Given the description of an element on the screen output the (x, y) to click on. 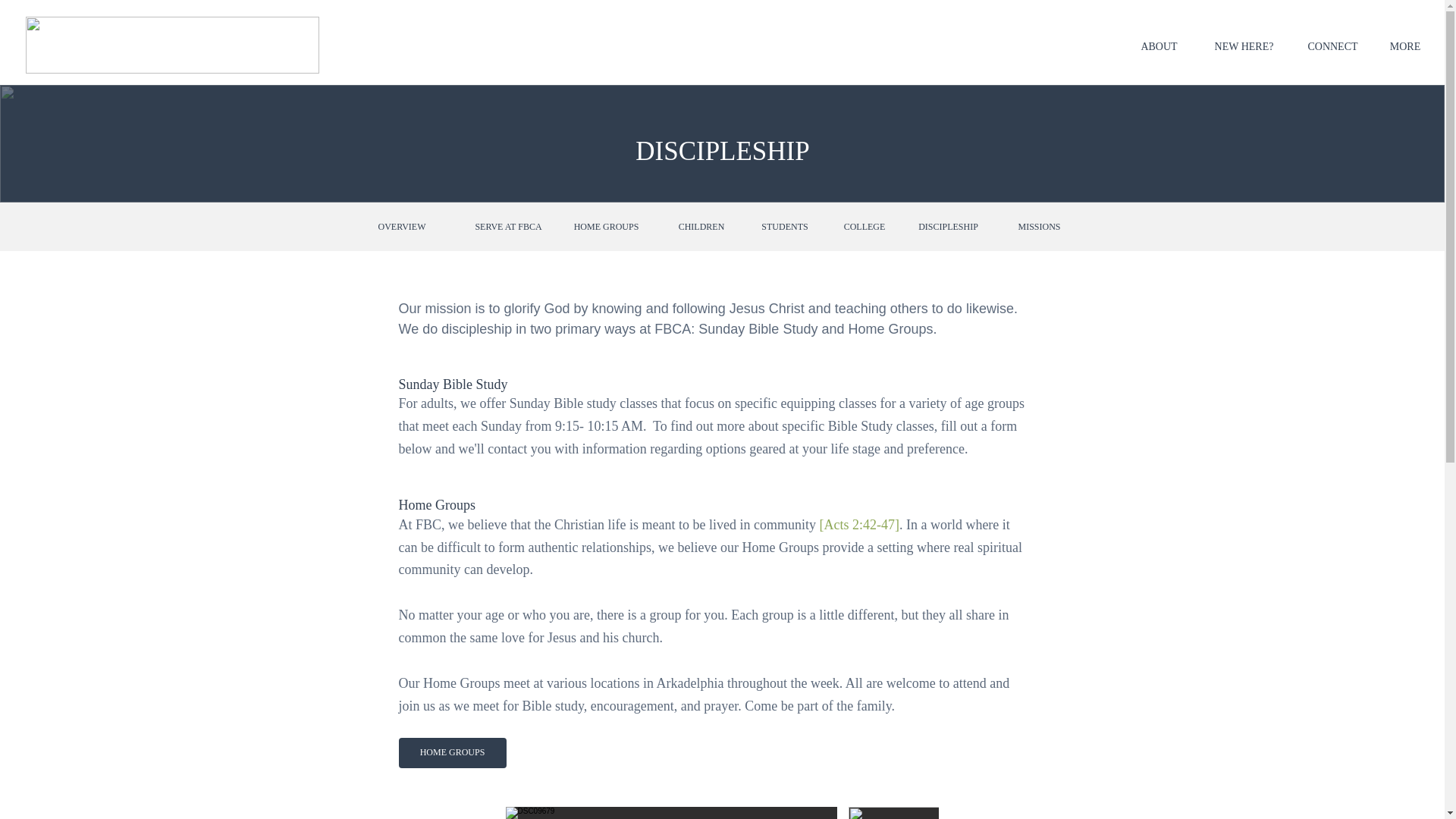
HOME GROUPS (605, 226)
MORE (1404, 46)
HOME GROUPS (452, 752)
SERVE AT FBCA (508, 226)
STUDENTS (784, 226)
ABOUT (1158, 46)
CONNECT (1332, 46)
DISCIPLESHIP (948, 226)
Acts 2:42-47 (859, 524)
NEW HERE? (1244, 46)
